Given the description of an element on the screen output the (x, y) to click on. 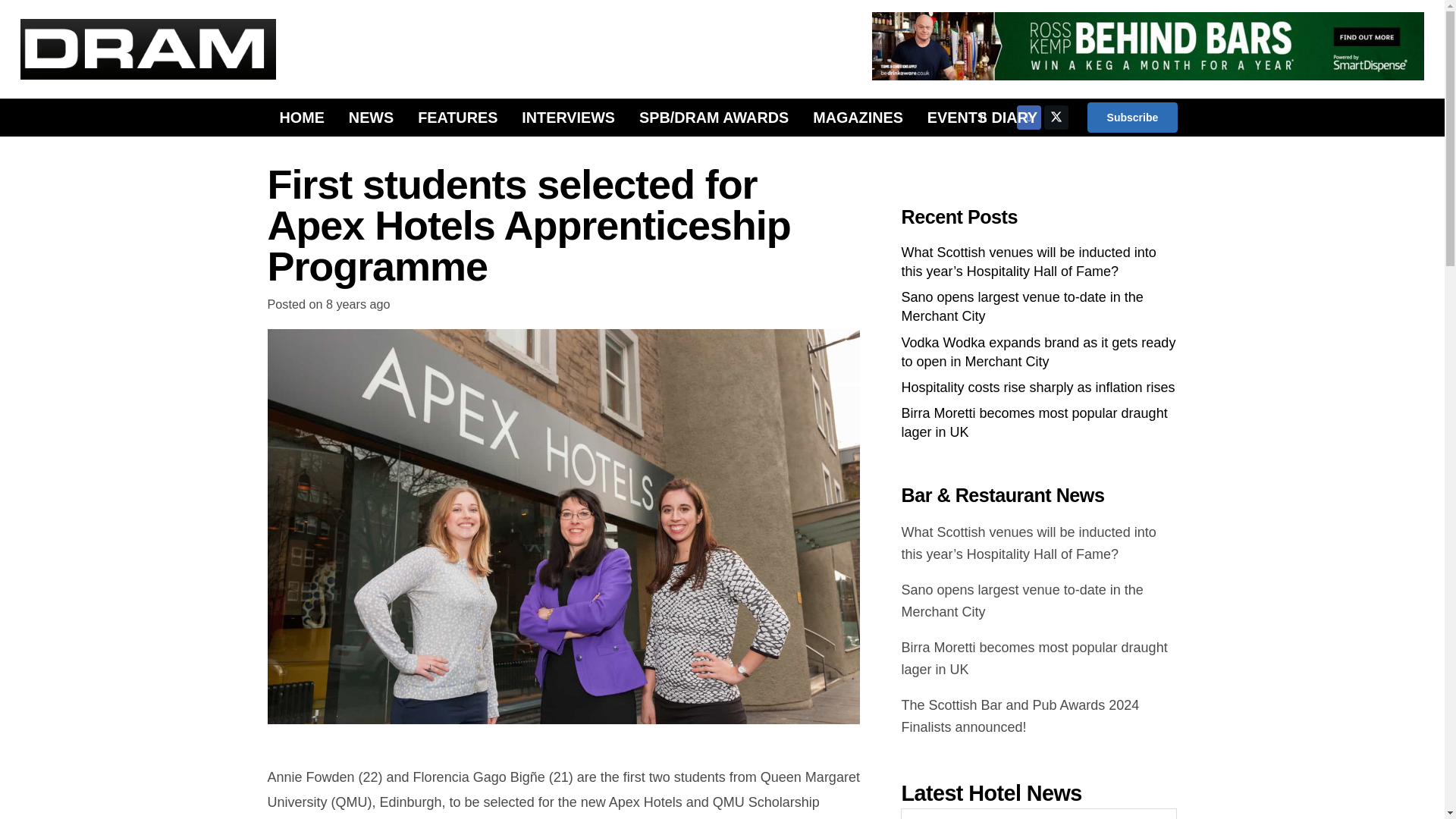
FEATURES (457, 117)
MAGAZINES (857, 117)
HOME (301, 117)
Subscribe (1131, 116)
EVENTS DIARY (982, 117)
Facebook (1028, 117)
NEWS (371, 117)
Twitter (1055, 117)
INTERVIEWS (568, 117)
